Given the description of an element on the screen output the (x, y) to click on. 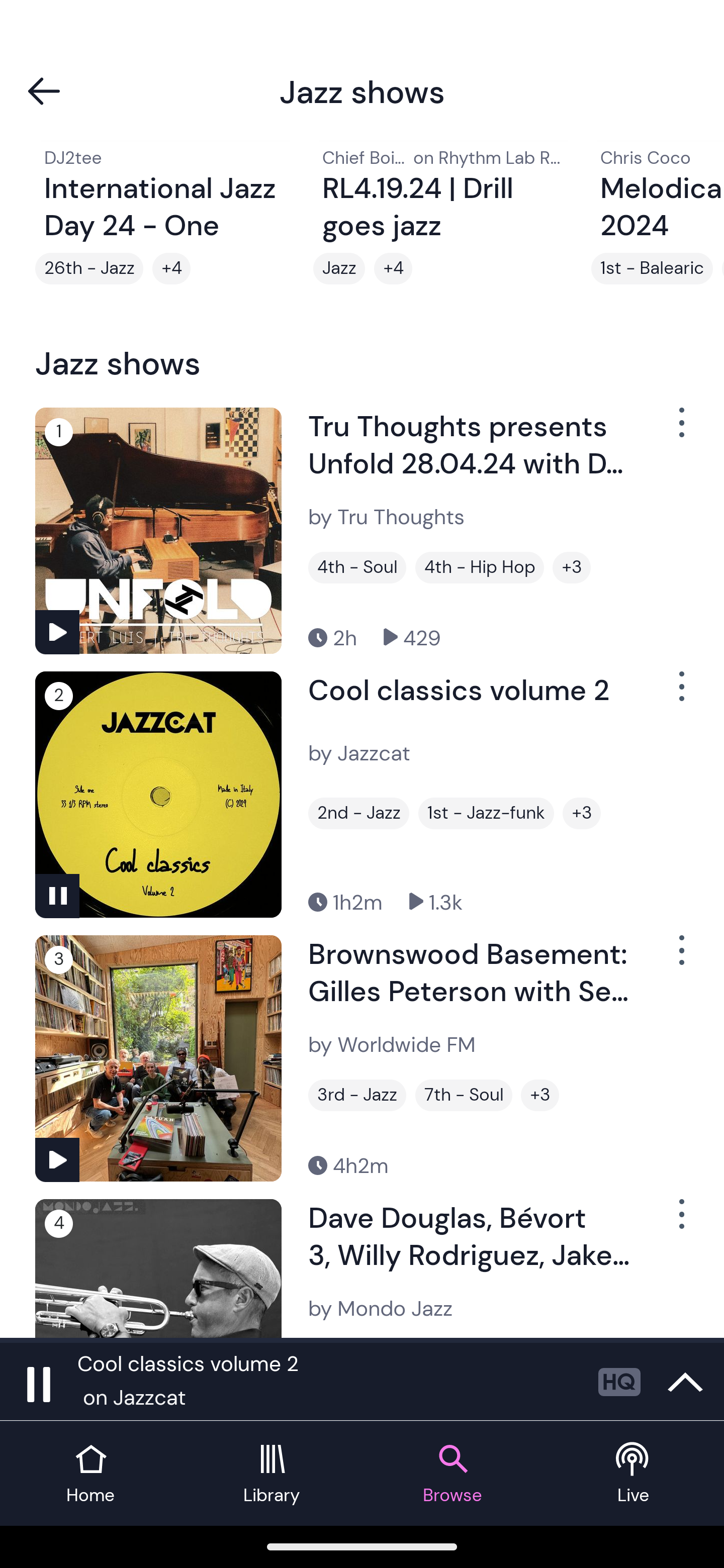
26th - Jazz (89, 267)
Jazz (338, 267)
1st - Balearic (652, 267)
Show Options Menu Button (679, 430)
4th - Soul (357, 567)
4th - Hip Hop (479, 567)
Show Options Menu Button (679, 693)
2nd - Jazz (358, 813)
1st - Jazz-funk (485, 813)
Show Options Menu Button (679, 957)
3rd - Jazz (357, 1094)
7th - Soul (463, 1094)
Show Options Menu Button (679, 1221)
Home tab Home (90, 1473)
Library tab Library (271, 1473)
Browse tab Browse (452, 1473)
Live tab Live (633, 1473)
